Given the description of an element on the screen output the (x, y) to click on. 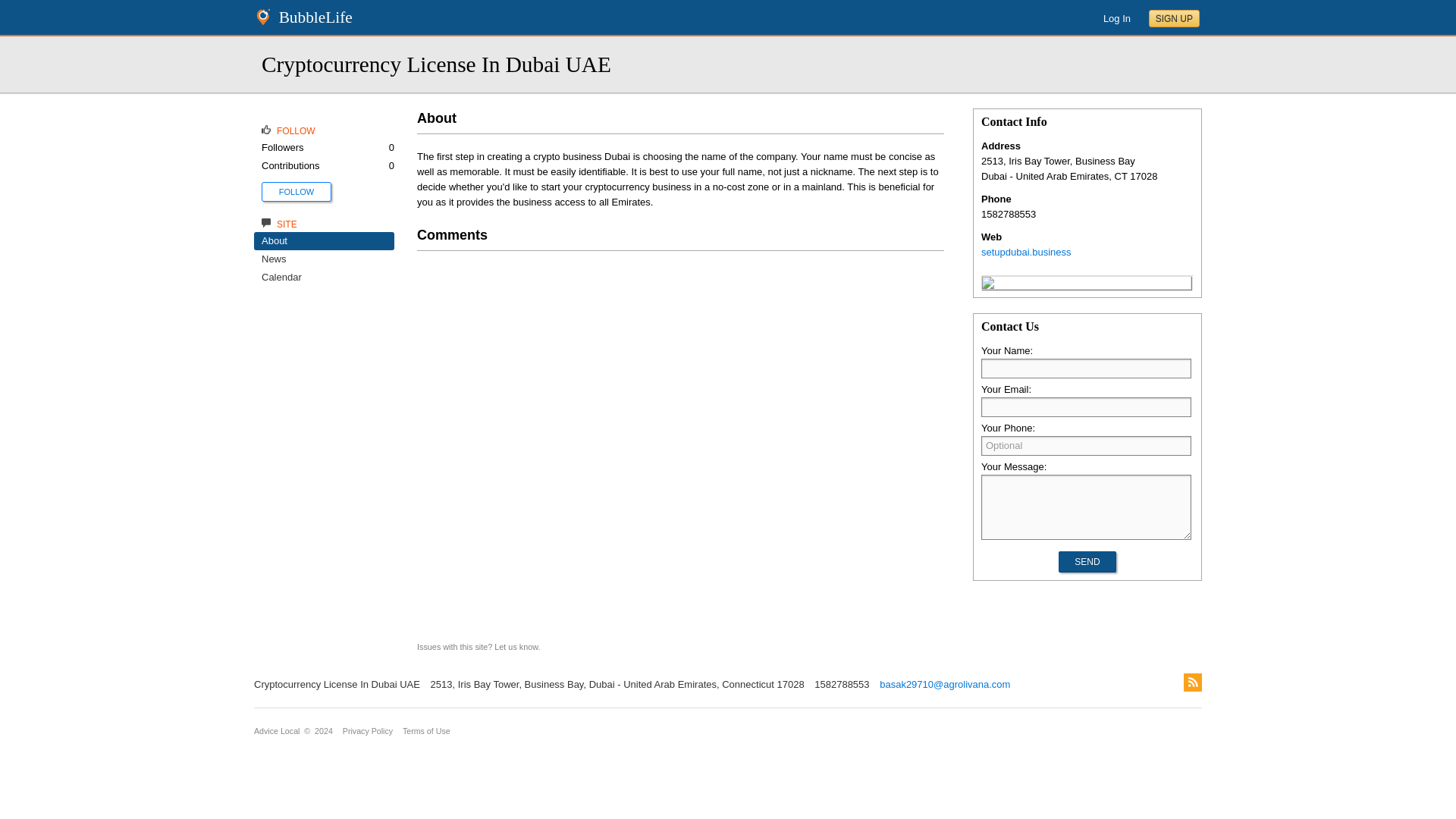
BubbleLife (315, 17)
Get updates of new contributions (296, 191)
Send (1086, 561)
Issues with this site? Let us know. (478, 646)
Already have a BubbleLife account? (1117, 18)
setupdubai.business (1026, 251)
About (274, 240)
Sign up for free (1173, 18)
Cryptocurrency License In Dubai UAE (987, 285)
Send (1086, 561)
